Given the description of an element on the screen output the (x, y) to click on. 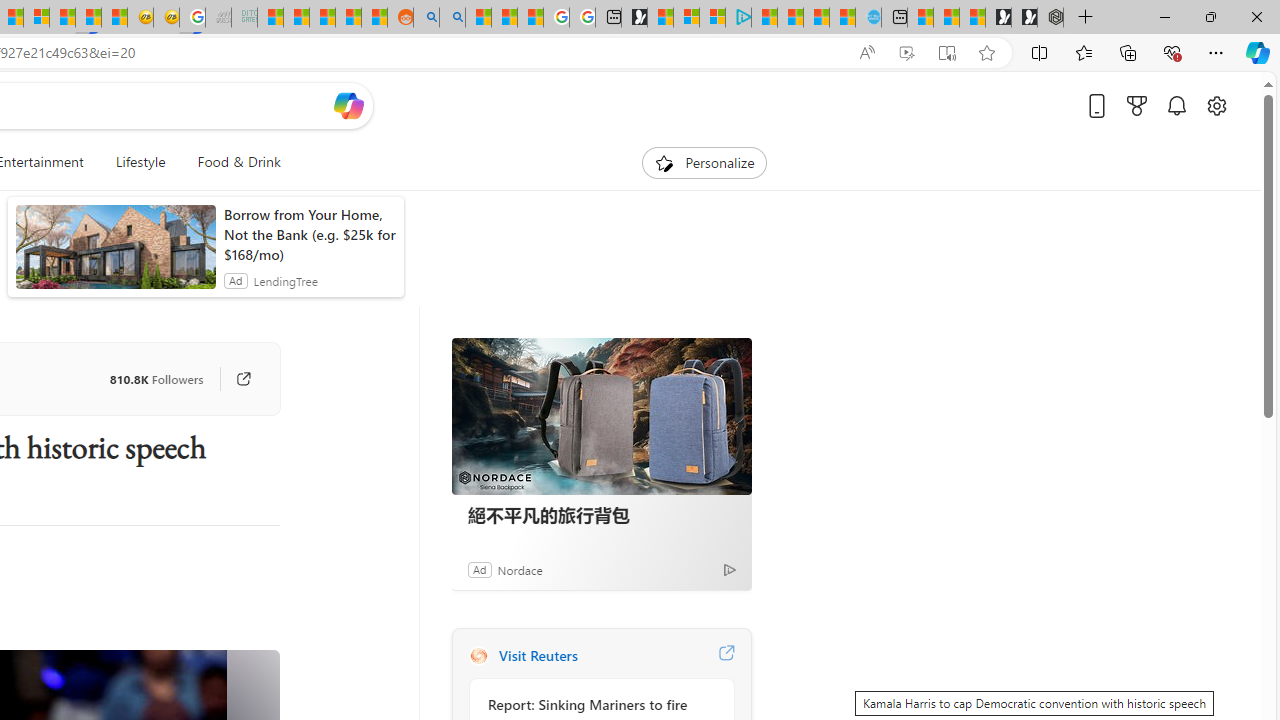
Visit Reuters website (726, 655)
Open settings (1216, 105)
